Given the description of an element on the screen output the (x, y) to click on. 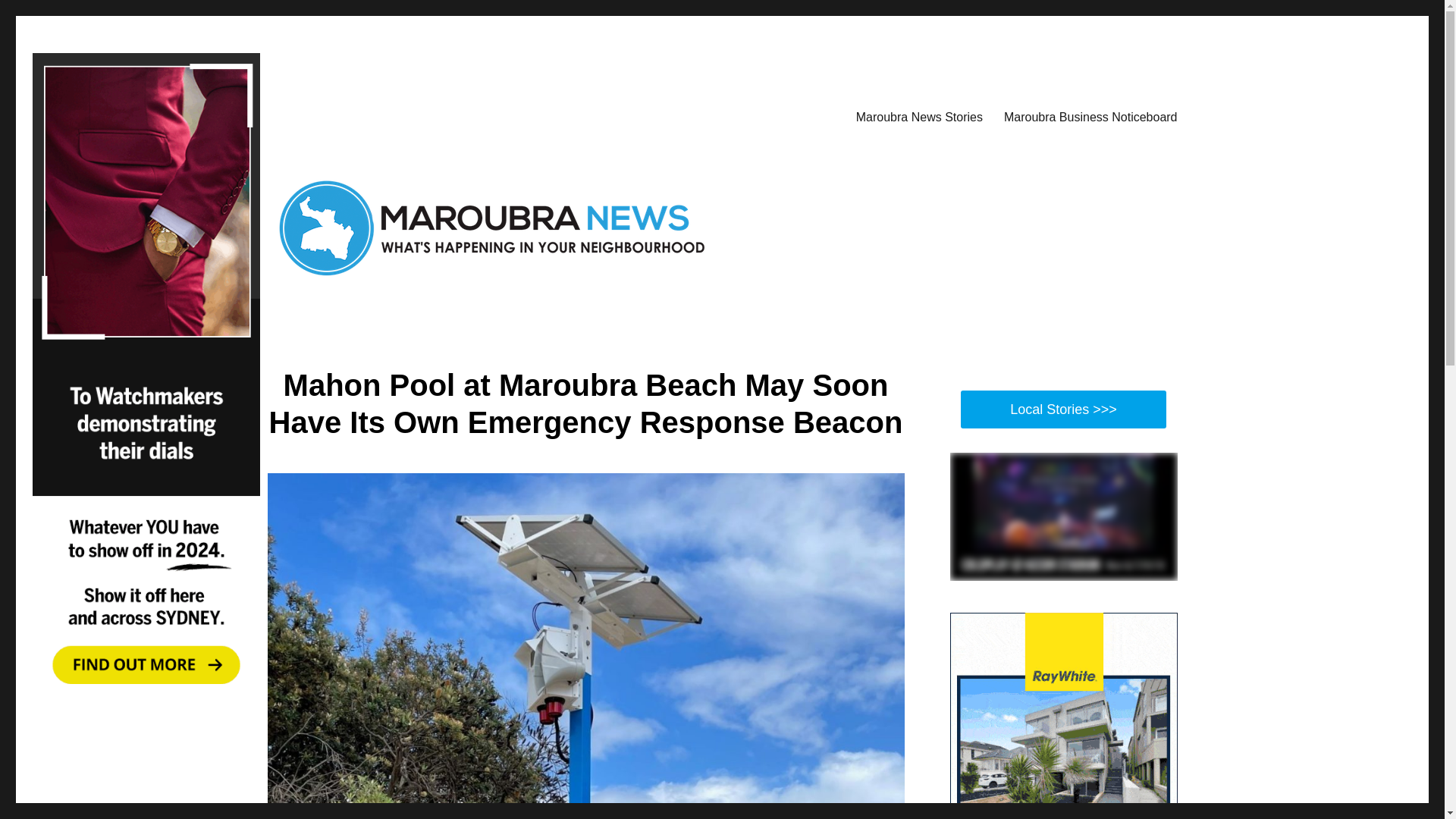
Maroubra News (345, 114)
Maroubra News Stories (918, 116)
Maroubra Business Noticeboard (1090, 116)
